Given the description of an element on the screen output the (x, y) to click on. 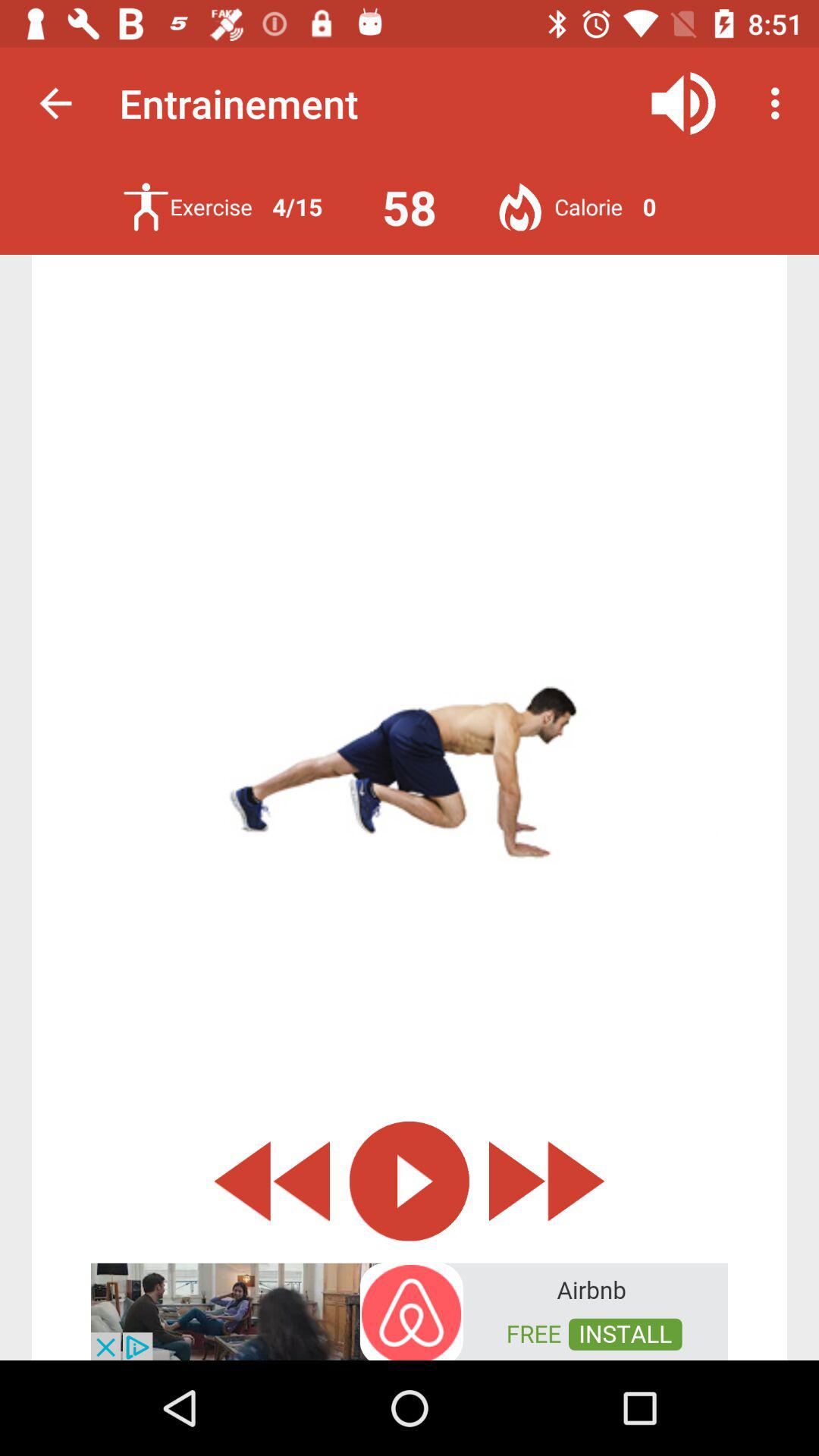
fast forward (546, 1181)
